Given the description of an element on the screen output the (x, y) to click on. 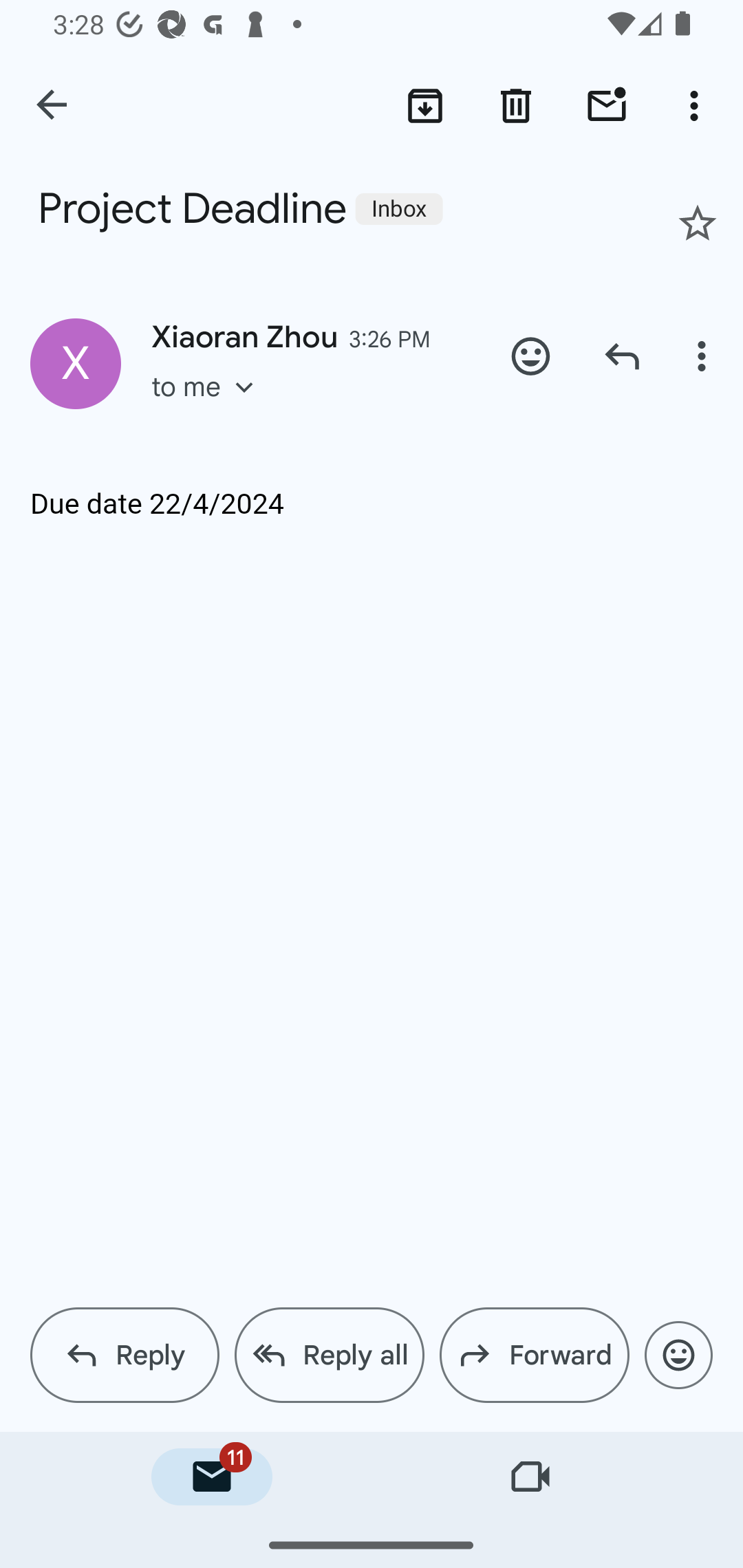
Navigate up (53, 105)
Archive (424, 105)
Delete (515, 105)
Mark unread (606, 105)
More options (697, 105)
Add star (697, 223)
Add emoji reaction (530, 355)
Reply (621, 355)
More options (705, 355)
Show contact information for Xiaoran Zhou (75, 363)
to me (208, 405)
Reply (124, 1355)
Reply all (329, 1355)
Forward (534, 1355)
Add emoji reaction (678, 1355)
Meet (530, 1476)
